Given the description of an element on the screen output the (x, y) to click on. 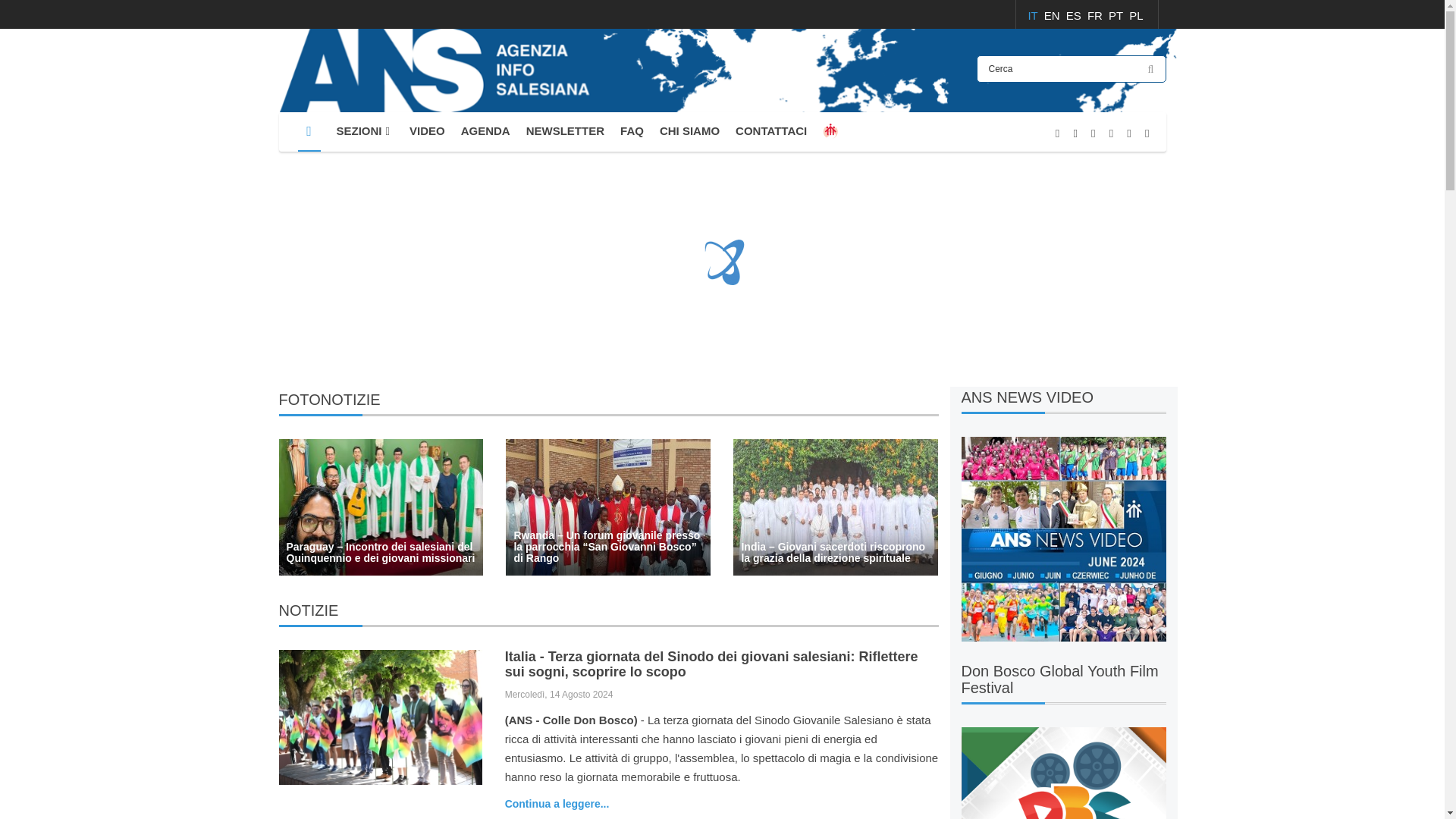
AGENDA (486, 131)
VIDEO (427, 131)
AGENDA (486, 131)
PT (1116, 15)
SEZIONI (365, 131)
NEWSLETTER (564, 131)
EN (1052, 15)
CHI SIAMO (689, 131)
VIDEO (427, 131)
IT (1034, 15)
